Given the description of an element on the screen output the (x, y) to click on. 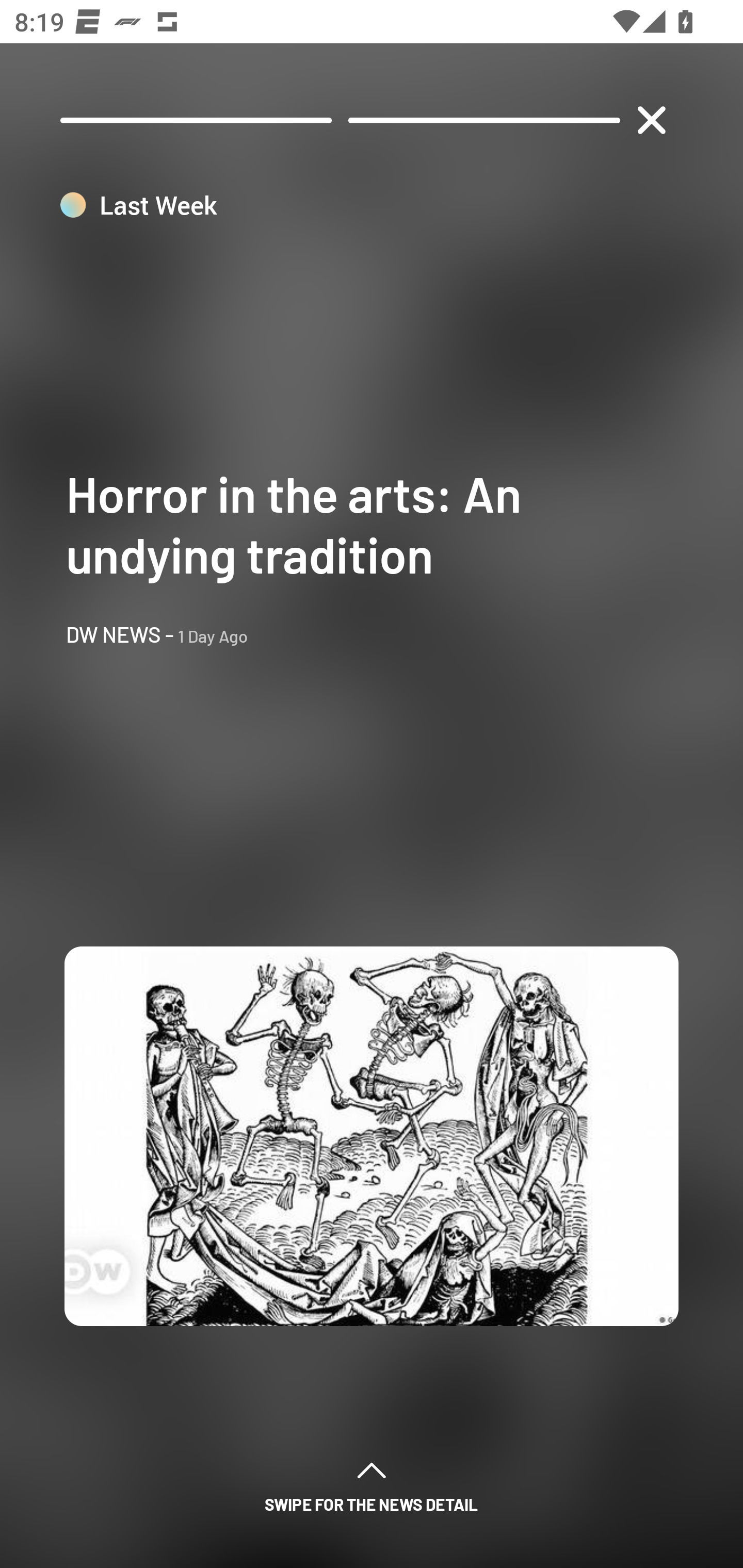
Close Highlights (651, 119)
